Given the description of an element on the screen output the (x, y) to click on. 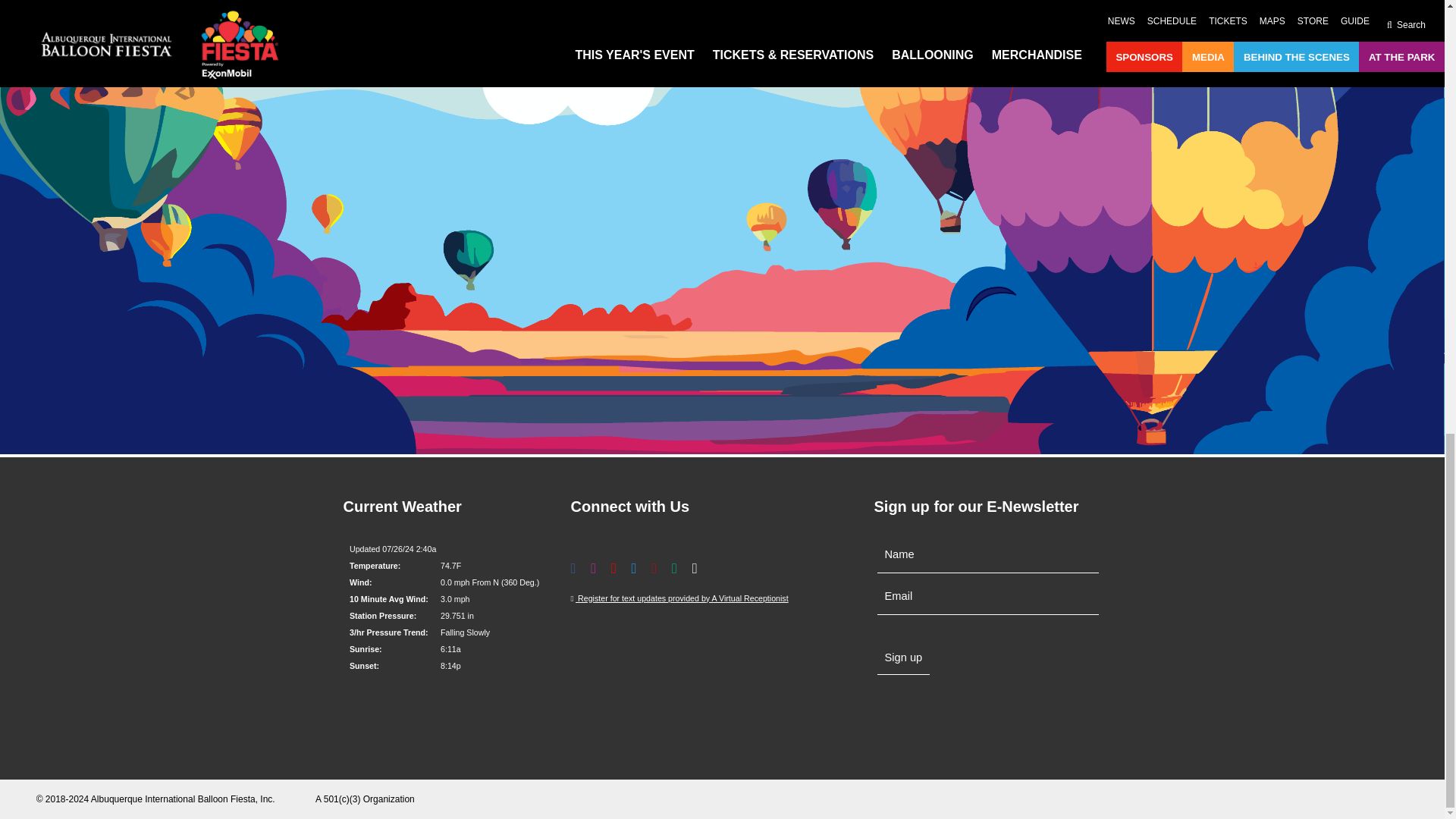
Sign up (902, 657)
